Given the description of an element on the screen output the (x, y) to click on. 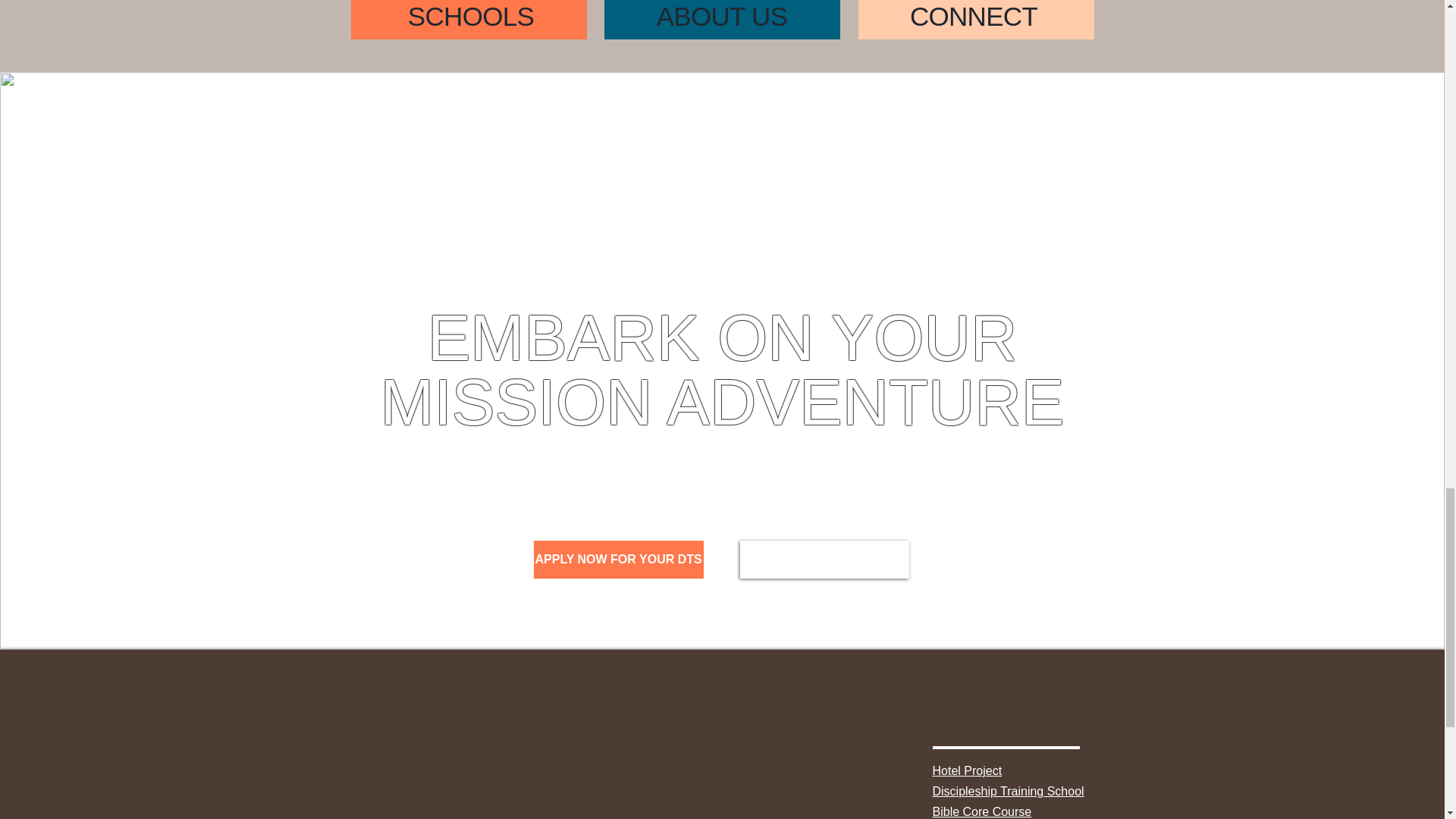
ABOUT US (721, 16)
Bible Core Course (982, 811)
APPLY NOW FOR YOUR DTS (618, 559)
DONATE (823, 559)
CONNECT (973, 16)
Hotel Project (968, 770)
Discipleship Training School (1008, 790)
SCHOOLS (470, 16)
